Given the description of an element on the screen output the (x, y) to click on. 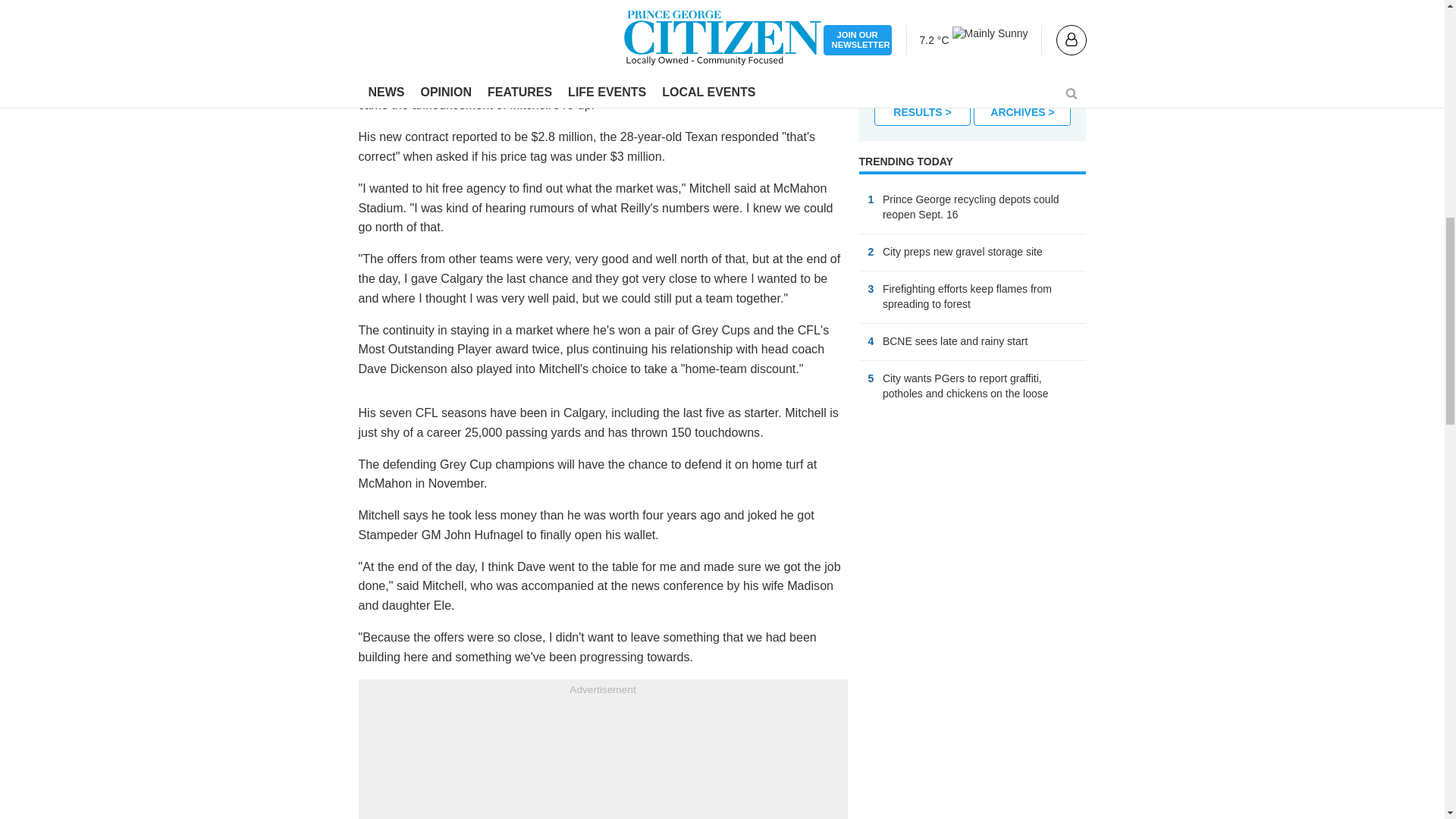
118558 (878, 15)
118560 (878, 58)
Has a gallery (1051, 253)
118556 (878, 36)
Has a gallery (1036, 342)
